Given the description of an element on the screen output the (x, y) to click on. 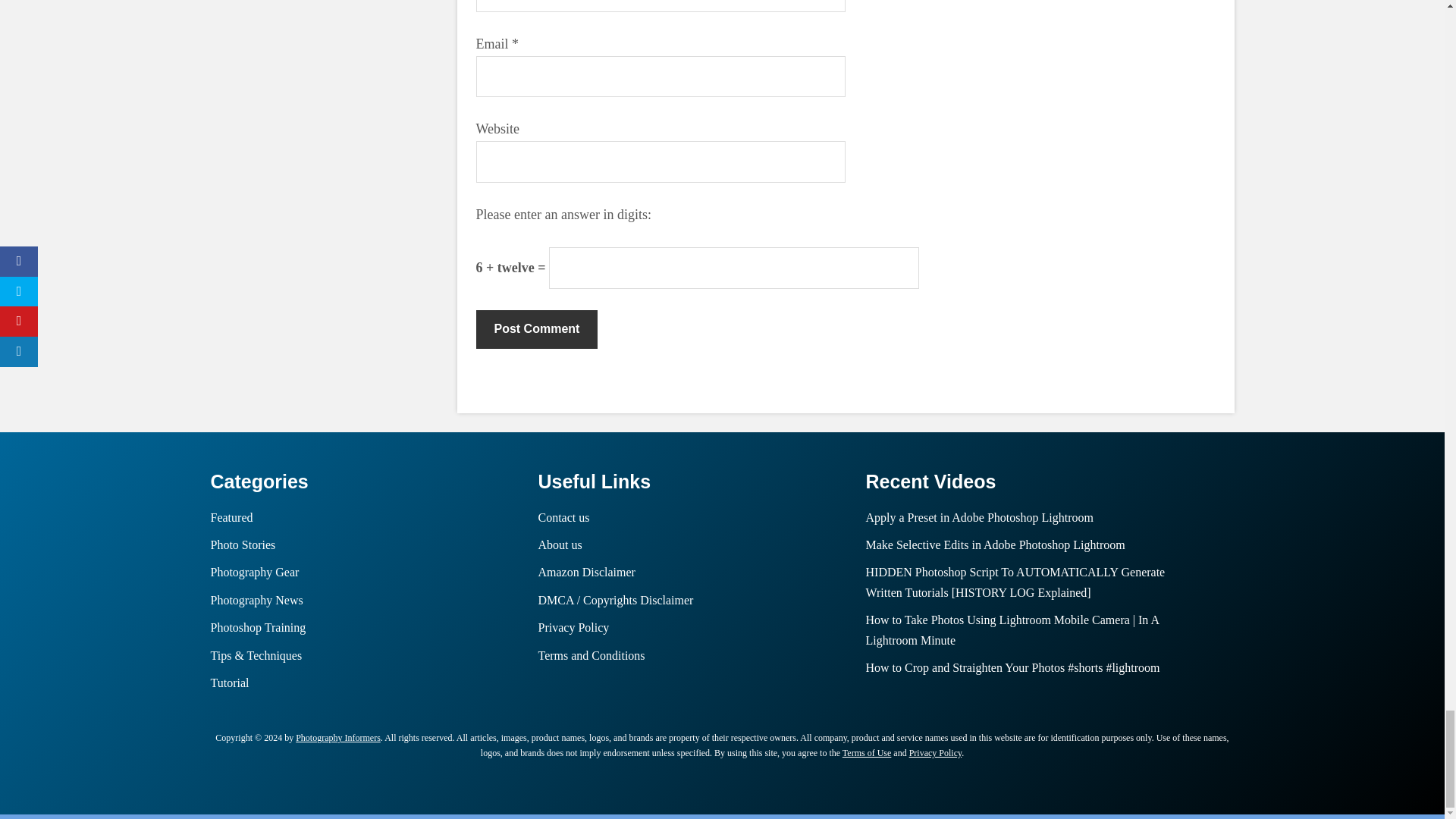
Post Comment (537, 329)
